Given the description of an element on the screen output the (x, y) to click on. 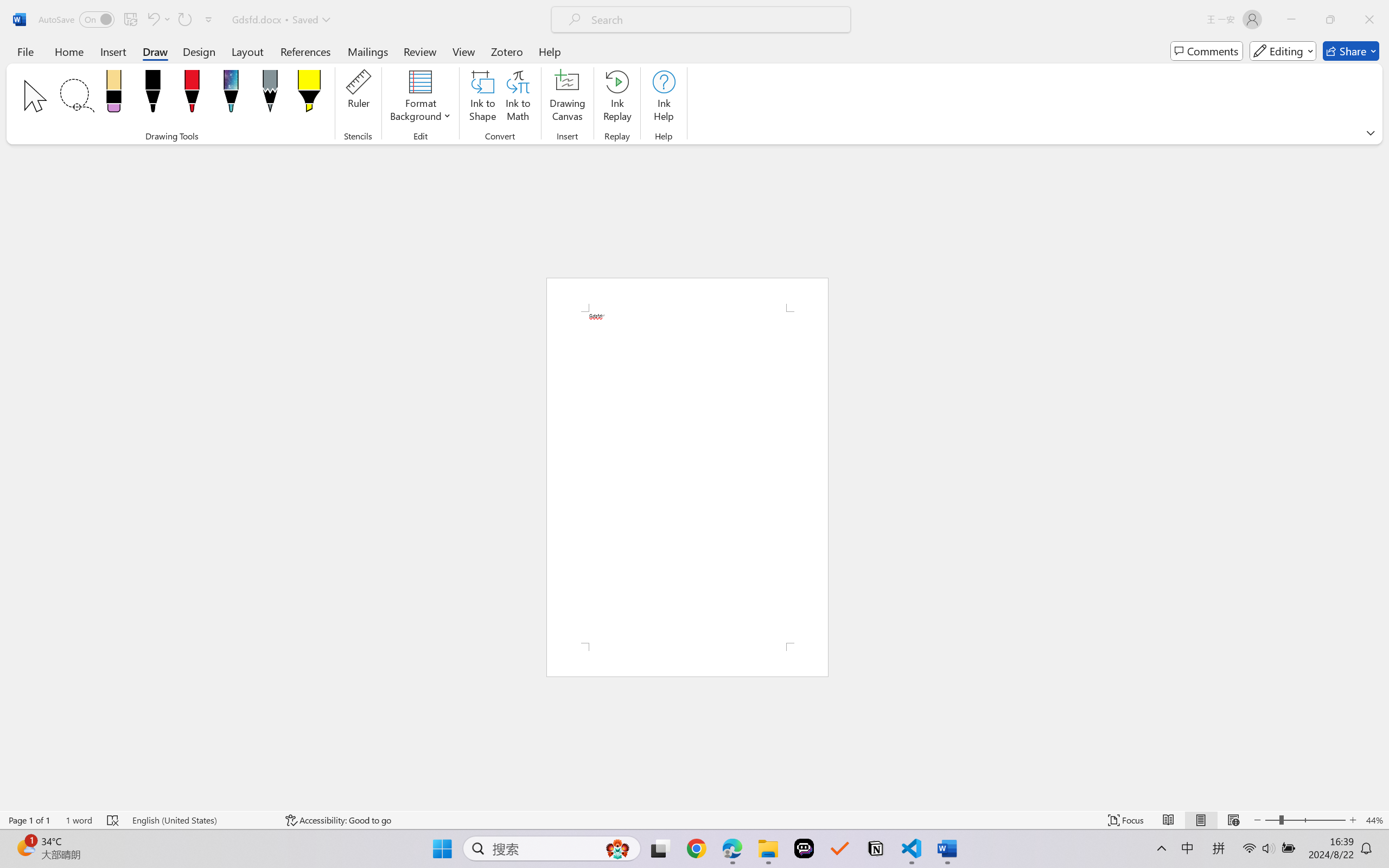
Highlighter: Yellow, 6 mm (309, 94)
Ruler (358, 97)
